Given the description of an element on the screen output the (x, y) to click on. 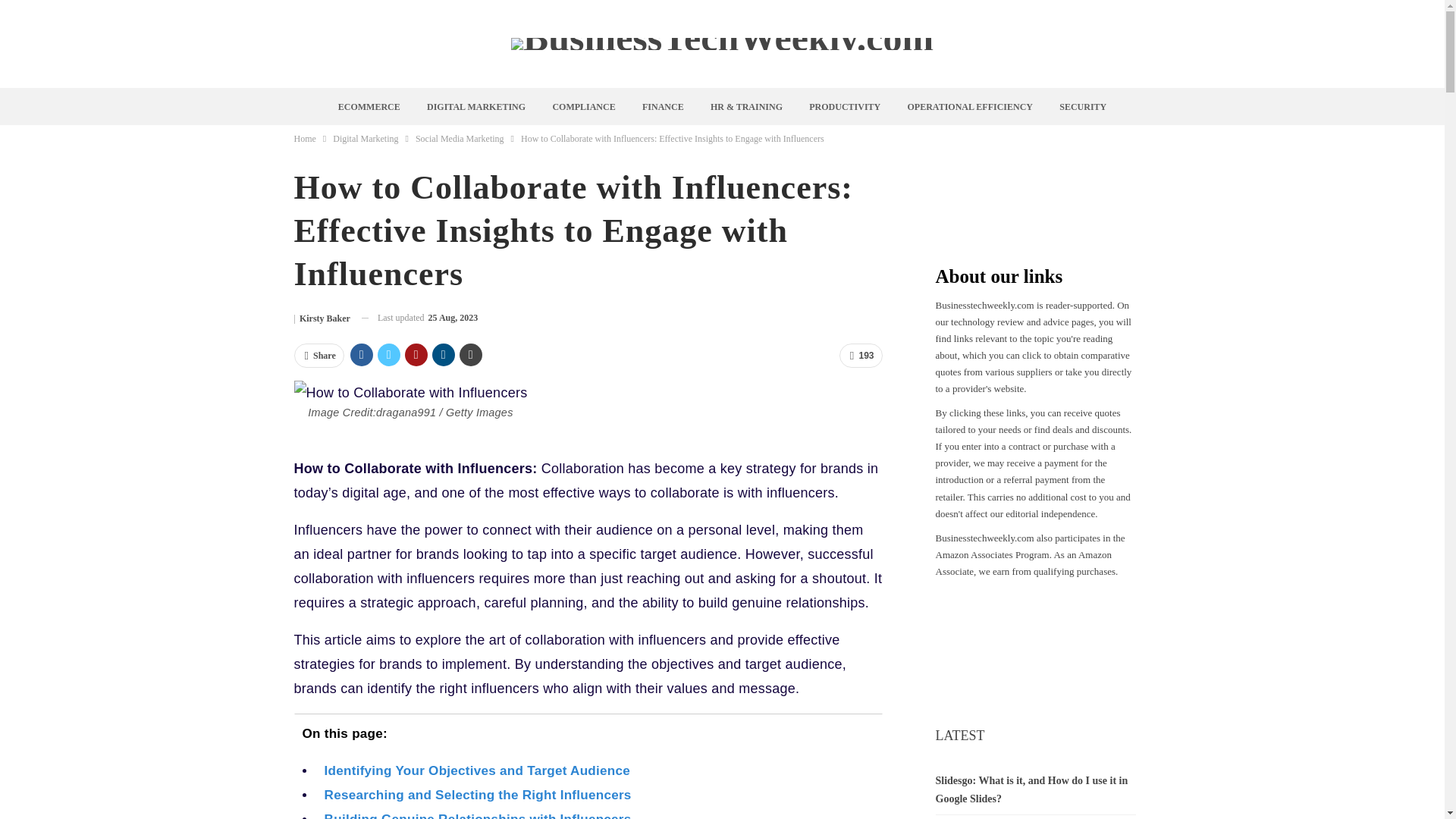
COMPLIANCE (583, 106)
ECOMMERCE (369, 106)
Browse Author Articles (322, 317)
Building Genuine Relationships with Influencers (477, 815)
Home (304, 138)
FINANCE (663, 106)
OPERATIONAL EFFICIENCY (970, 106)
Digital Marketing (365, 138)
Researching and Selecting the Right Influencers (477, 794)
DIGITAL MARKETING (475, 106)
